Given the description of an element on the screen output the (x, y) to click on. 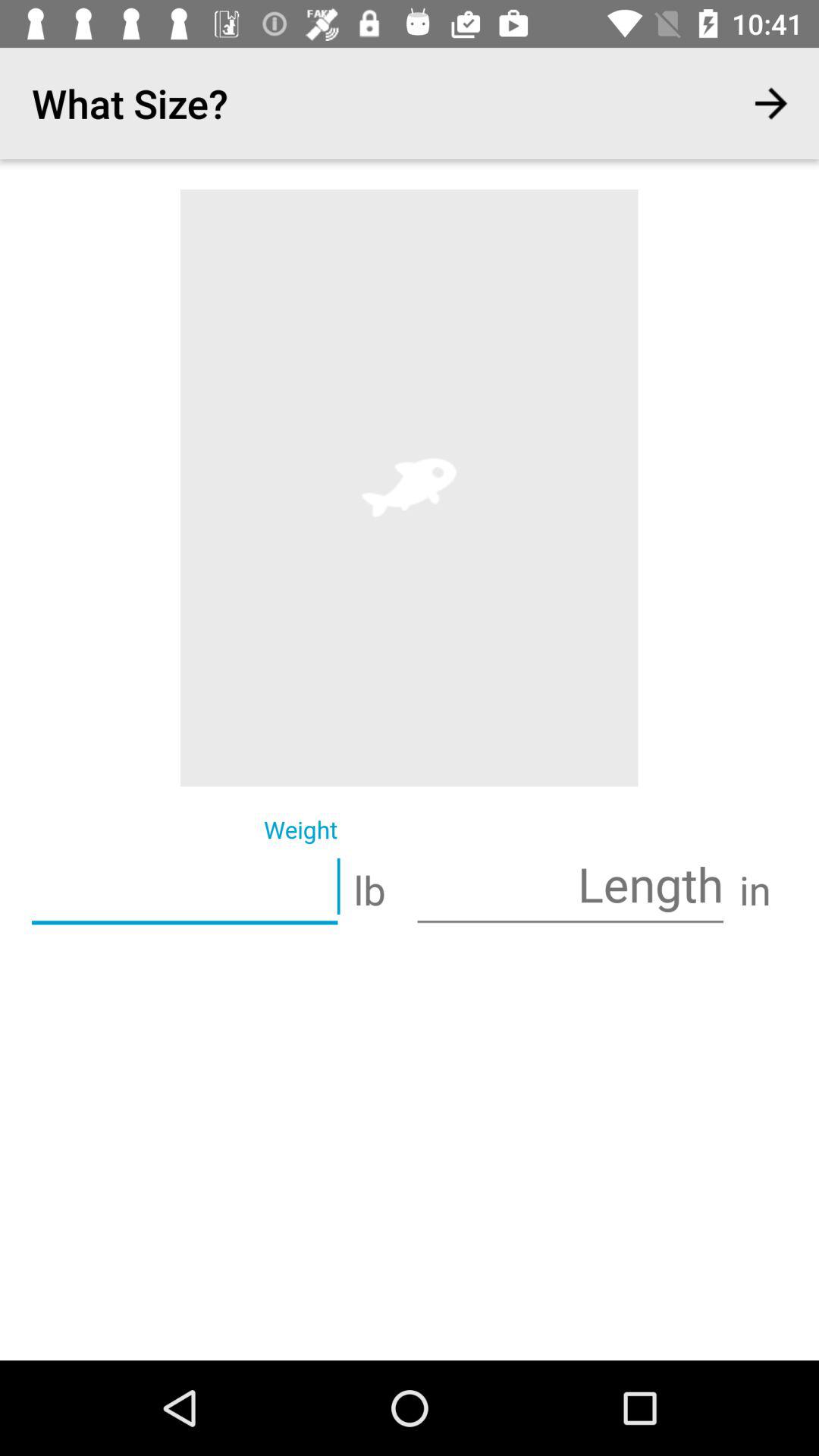
write weight (184, 888)
